Given the description of an element on the screen output the (x, y) to click on. 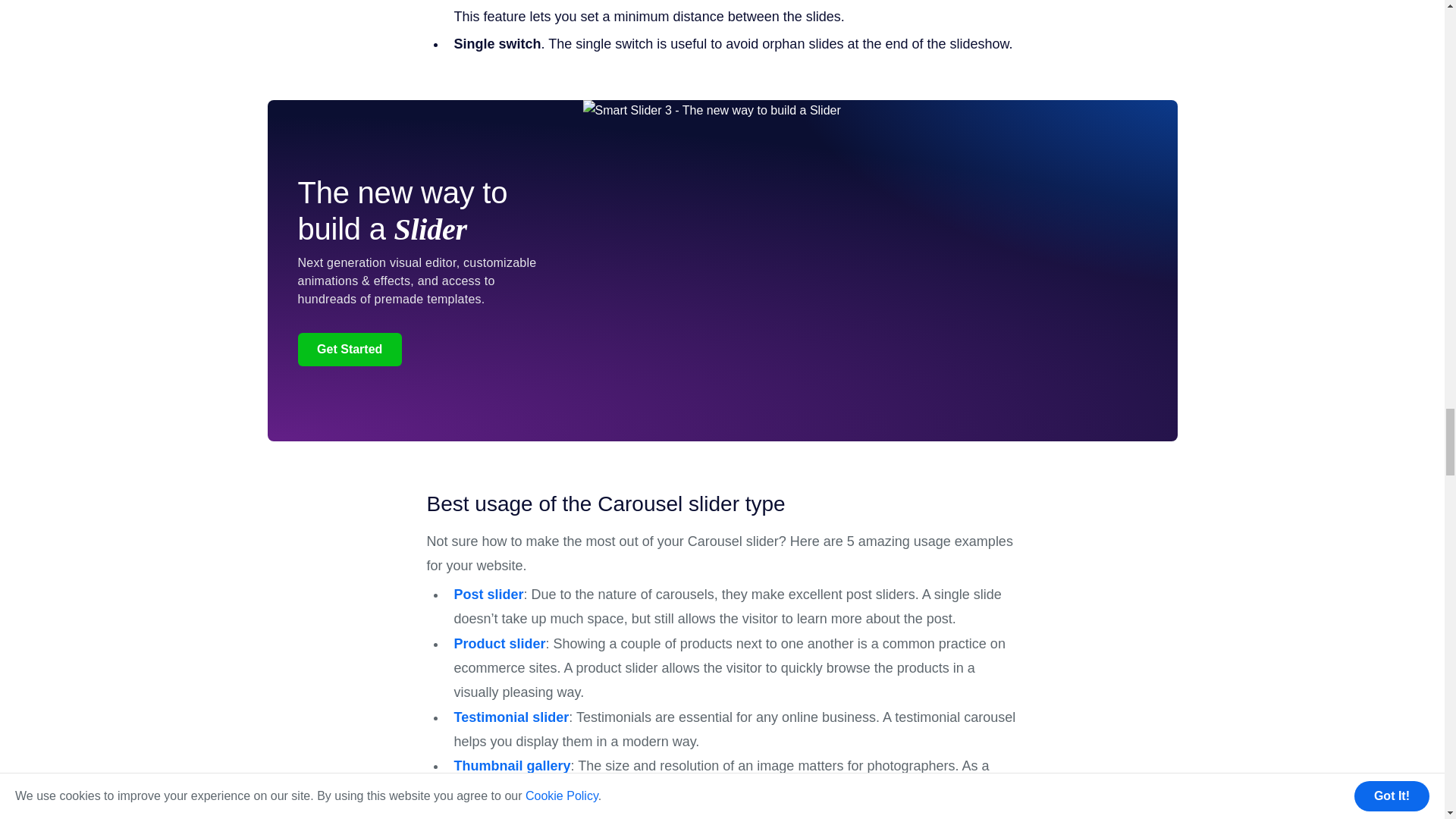
Testimonial slider (510, 718)
Thumbnail gallery (511, 766)
Post slider (487, 595)
Get Started (349, 349)
Product slider (498, 643)
